Given the description of an element on the screen output the (x, y) to click on. 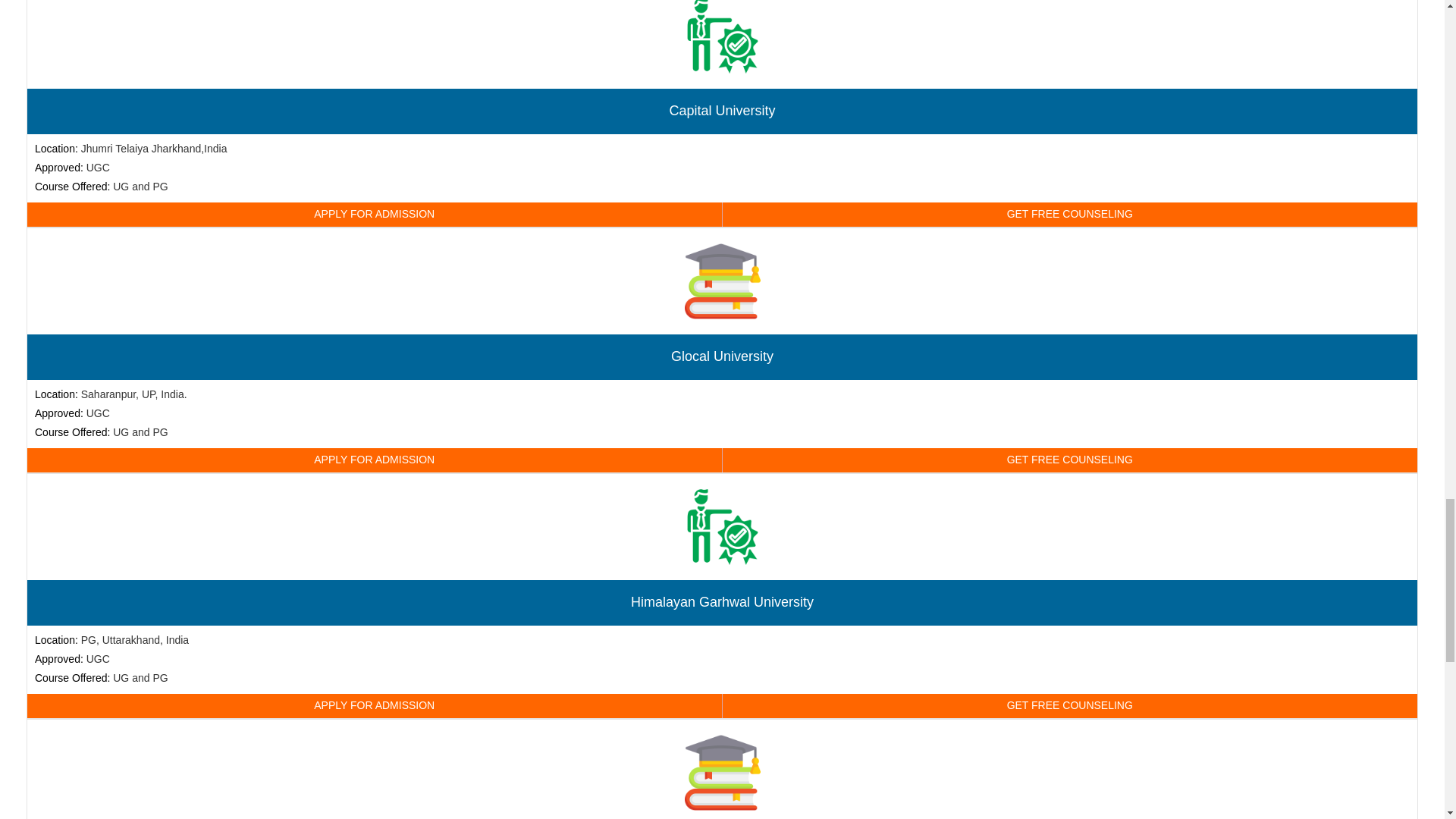
APPLY FOR ADMISSION (374, 459)
GET FREE COUNSELING (1069, 214)
APPLY FOR ADMISSION (374, 705)
GET FREE COUNSELING (1069, 705)
GET FREE COUNSELING (1069, 459)
APPLY FOR ADMISSION (374, 214)
